Given the description of an element on the screen output the (x, y) to click on. 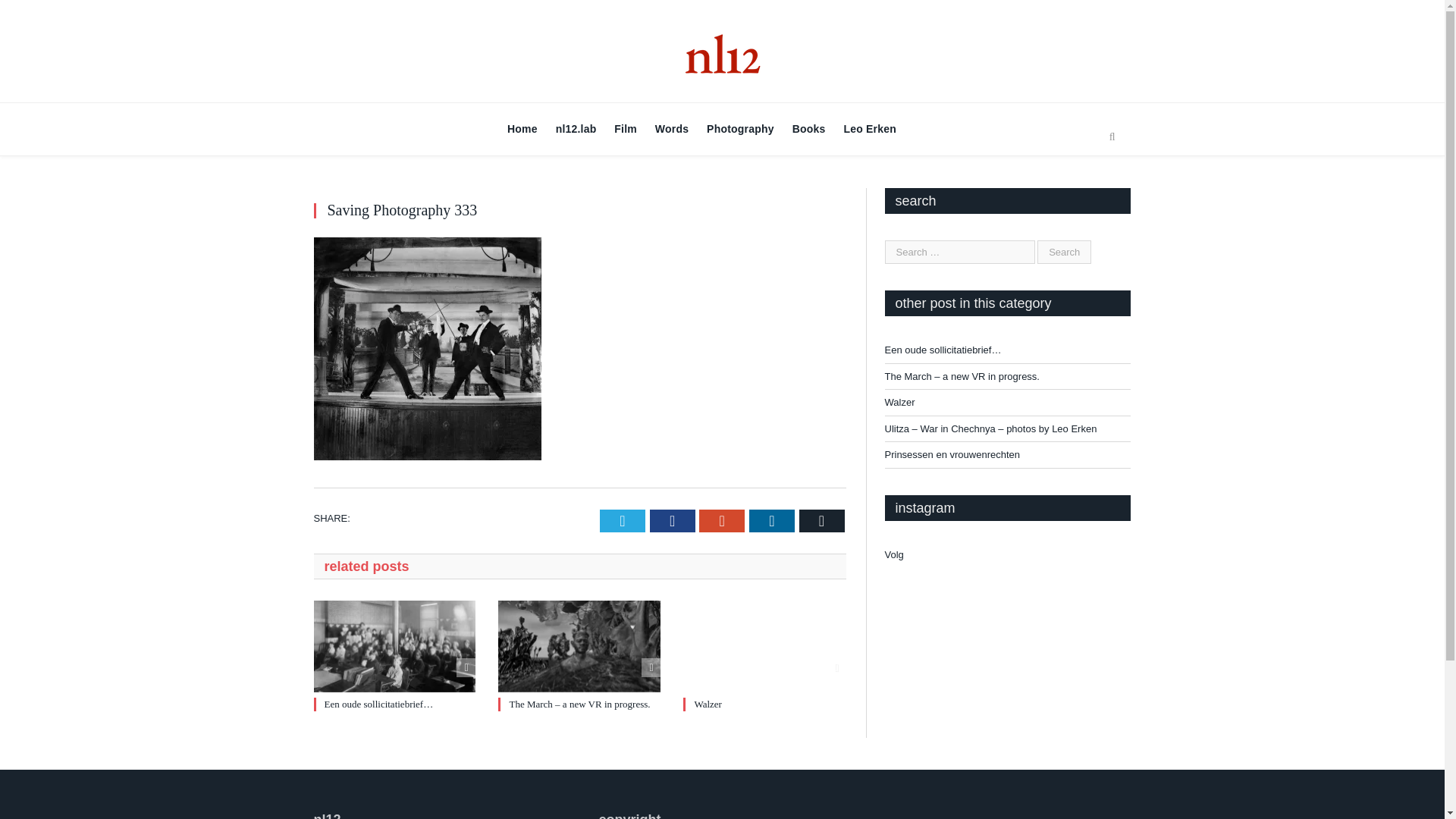
Twitter (622, 520)
Walzer (763, 645)
Words (671, 129)
Search (1112, 136)
LinkedIn (771, 520)
Leo Erken (869, 129)
Walzer (707, 704)
Volg (892, 554)
Search (1063, 251)
Facebook (672, 520)
